Given the description of an element on the screen output the (x, y) to click on. 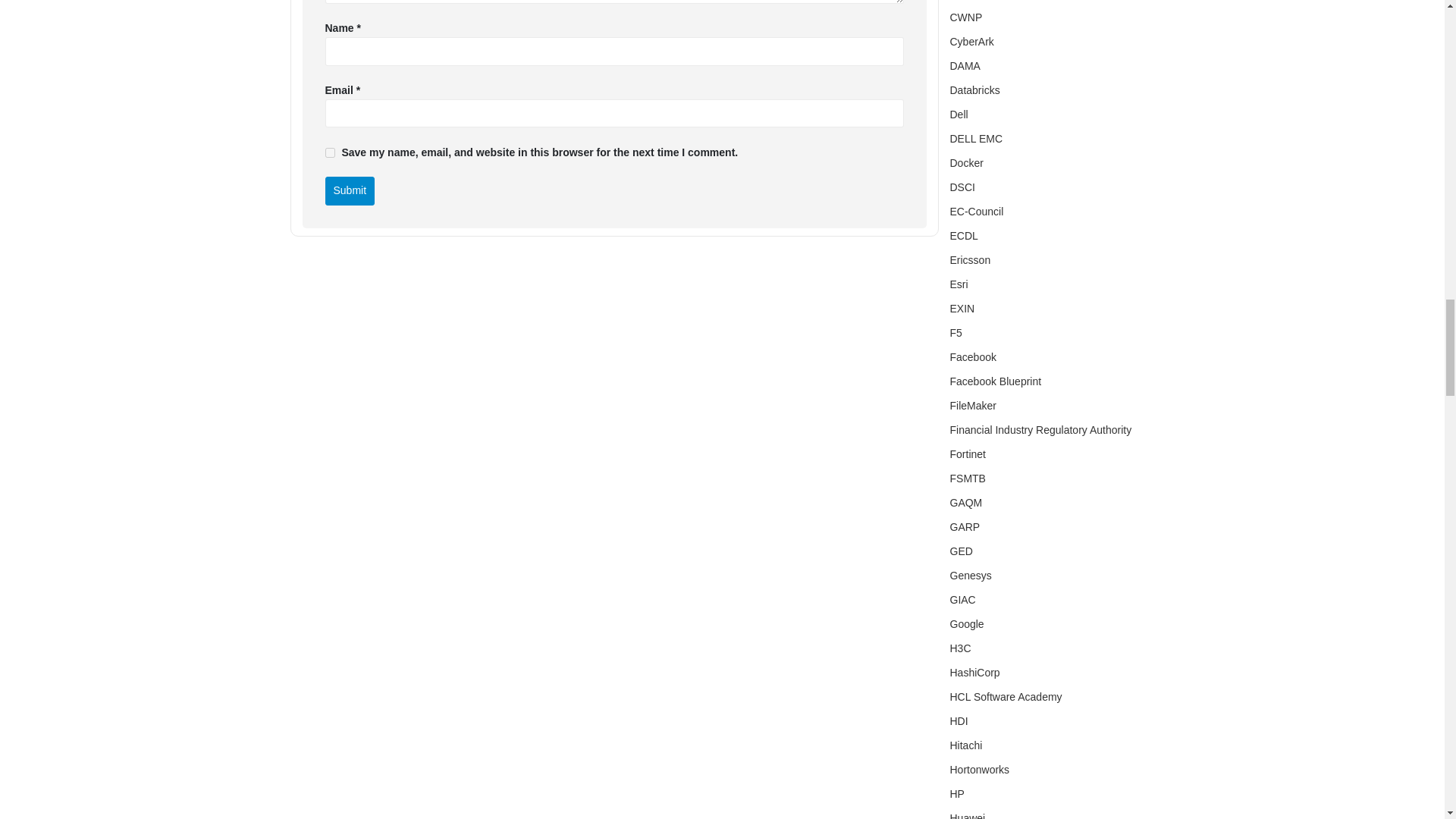
yes (329, 153)
Submit (349, 190)
